Given the description of an element on the screen output the (x, y) to click on. 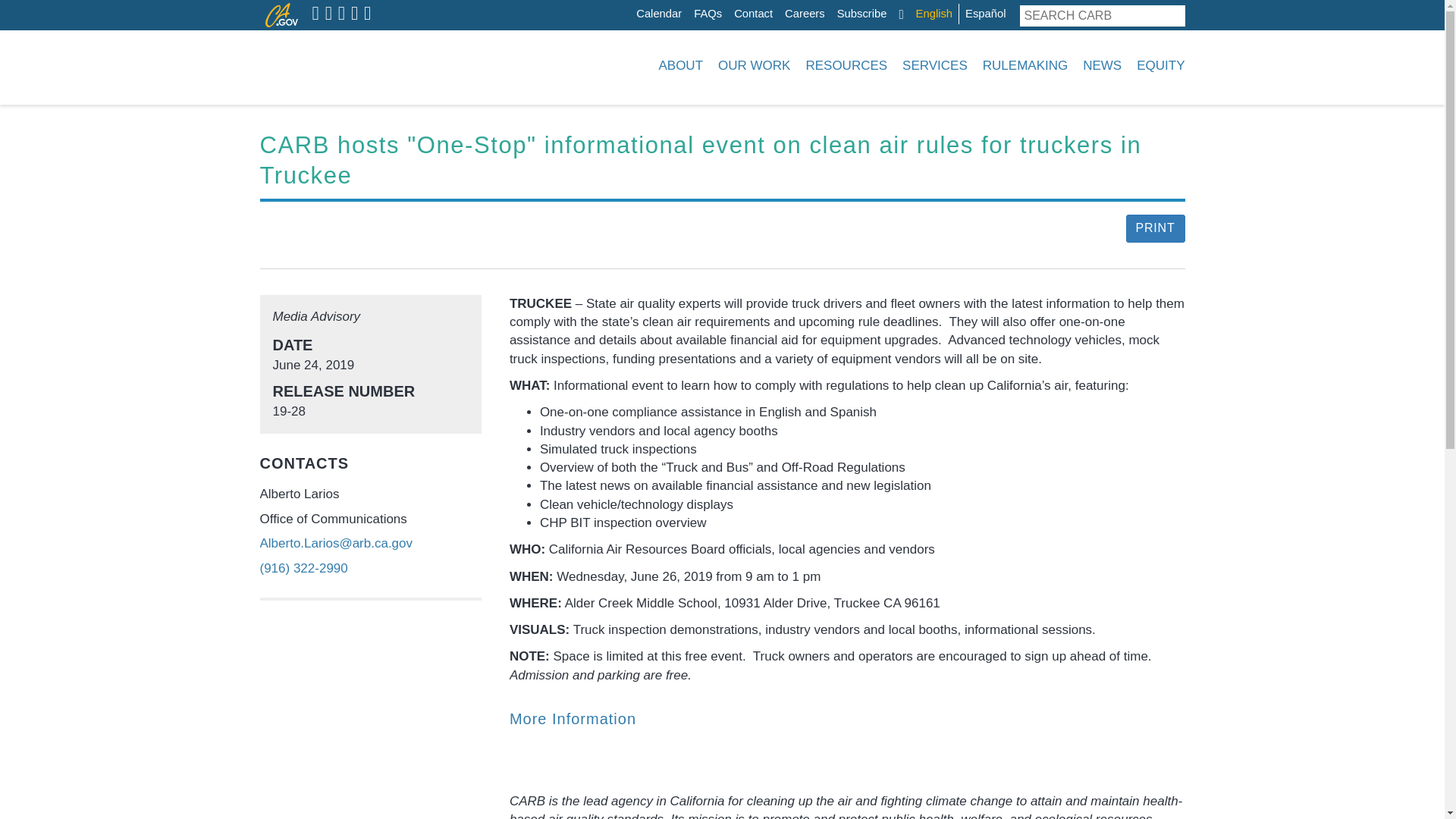
EQUITY (1157, 65)
FAQs (708, 14)
Search (1174, 15)
Calendar (658, 14)
Home (353, 65)
ABOUT (680, 65)
RULEMAKING (1025, 65)
Contact (753, 14)
SERVICES (935, 65)
RESOURCES (846, 65)
